Given the description of an element on the screen output the (x, y) to click on. 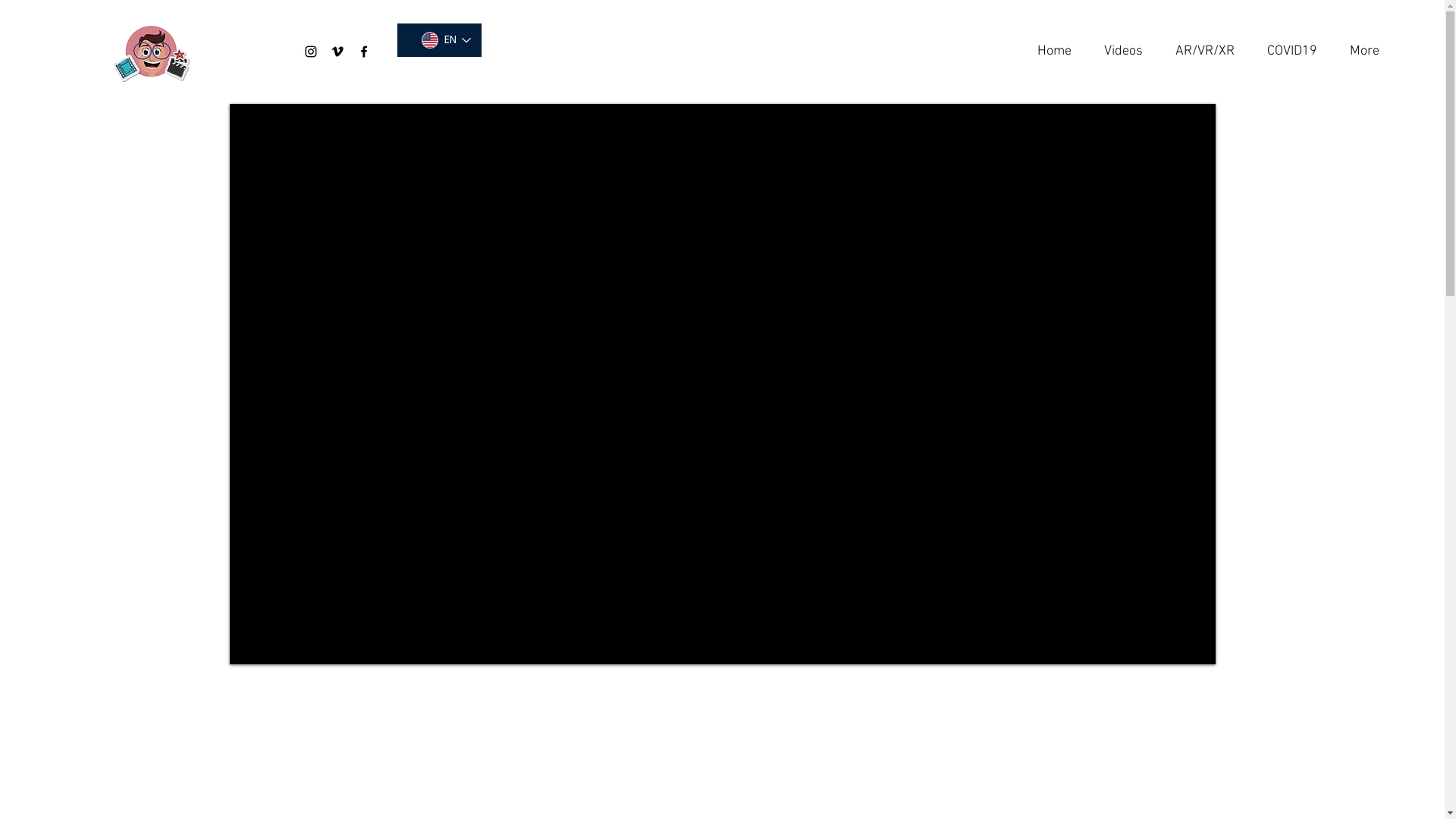
Home Element type: text (1049, 51)
Videos Element type: text (1118, 51)
AR/VR/XR Element type: text (1199, 51)
COVID19 Element type: text (1286, 51)
